Given the description of an element on the screen output the (x, y) to click on. 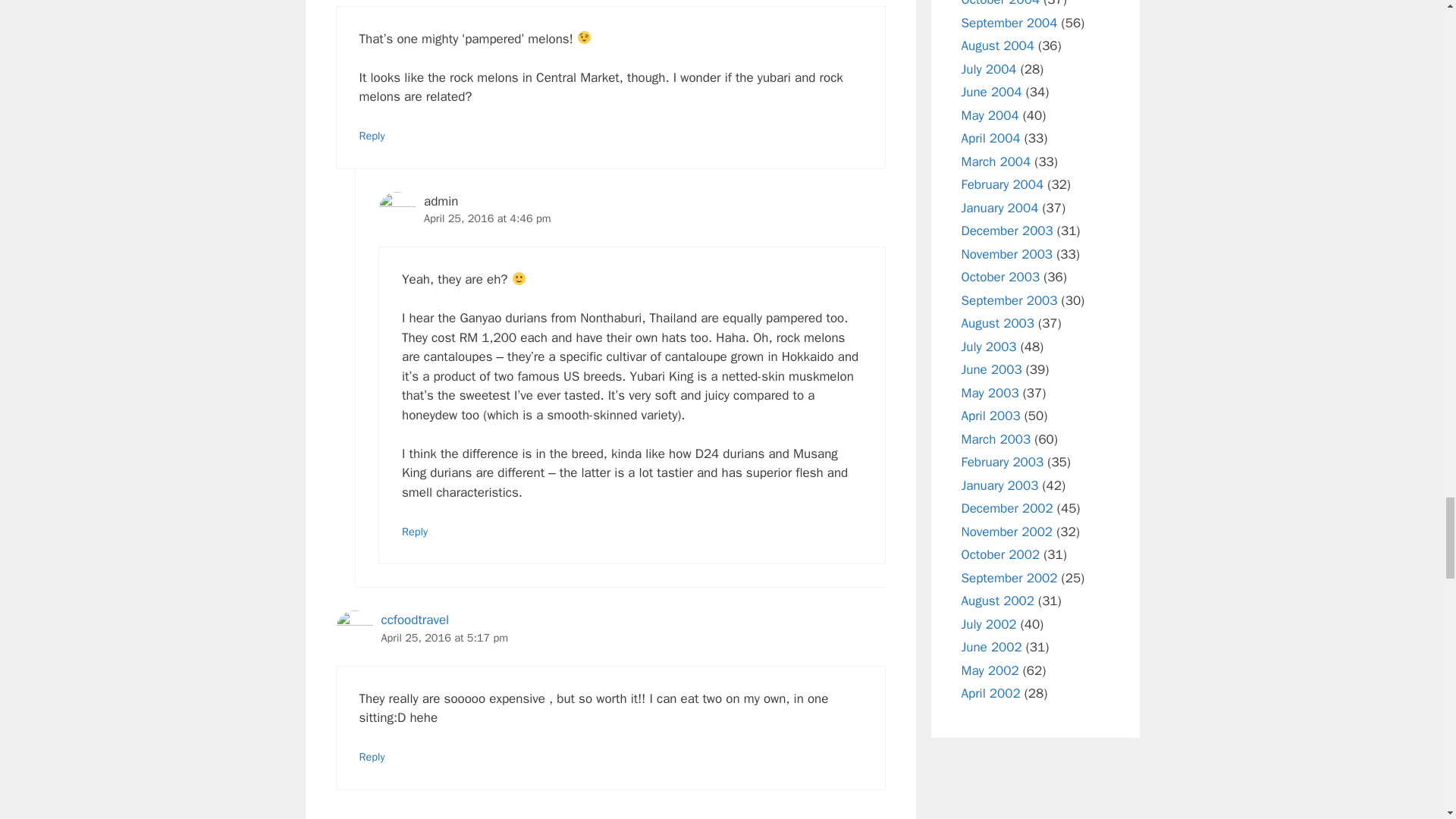
April 25, 2016 at 4:46 pm (487, 218)
Reply (414, 531)
April 25, 2016 at 5:17 pm (444, 637)
Reply (372, 135)
Reply (372, 756)
ccfoodtravel (414, 619)
